Given the description of an element on the screen output the (x, y) to click on. 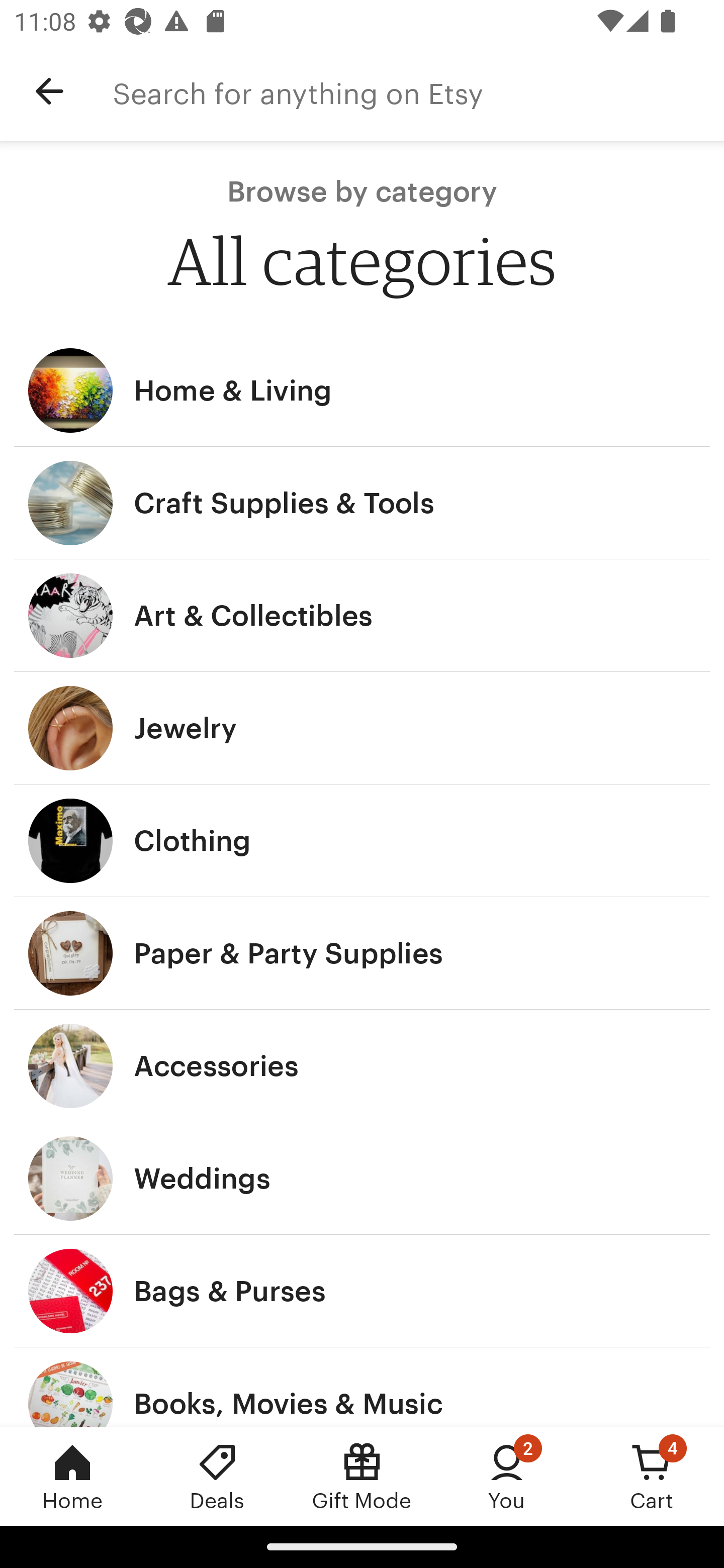
Navigate up (49, 91)
Search for anything on Etsy (418, 91)
Home & Living (361, 389)
Craft Supplies & Tools (361, 502)
Art & Collectibles (361, 615)
Jewelry (361, 728)
Clothing (361, 840)
Paper & Party Supplies (361, 952)
Accessories (361, 1065)
Weddings (361, 1178)
Bags & Purses (361, 1290)
Books, Movies & Music (361, 1386)
Deals (216, 1475)
Gift Mode (361, 1475)
You, 2 new notifications You (506, 1475)
Cart, 4 new notifications Cart (651, 1475)
